Given the description of an element on the screen output the (x, y) to click on. 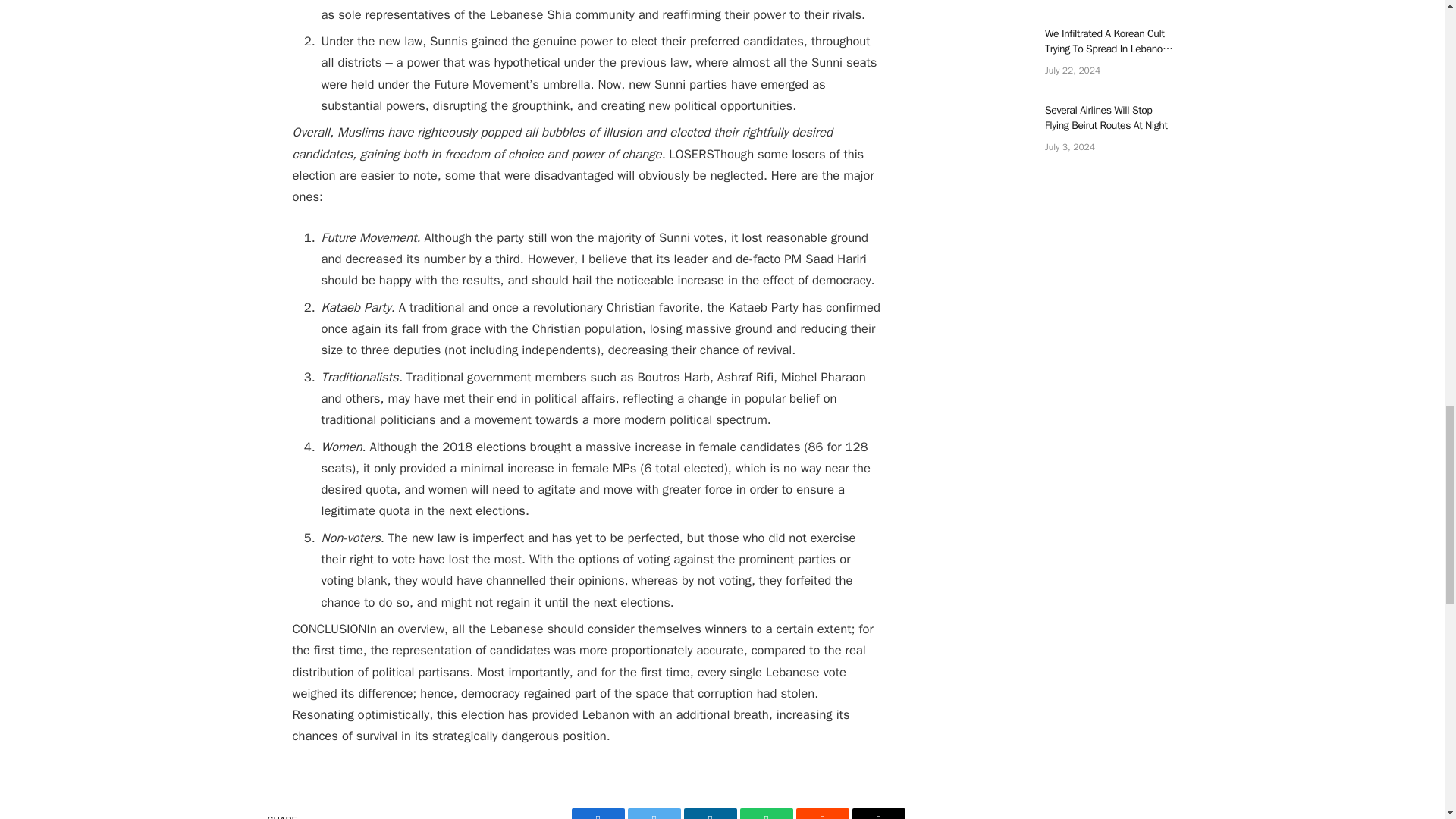
Twitter (654, 813)
Facebook (598, 813)
Share on Reddit (822, 813)
Share on Facebook (598, 813)
LinkedIn (710, 813)
Email (878, 813)
Share on WhatsApp (766, 813)
Reddit (822, 813)
Share on LinkedIn (710, 813)
WhatsApp (766, 813)
